Given the description of an element on the screen output the (x, y) to click on. 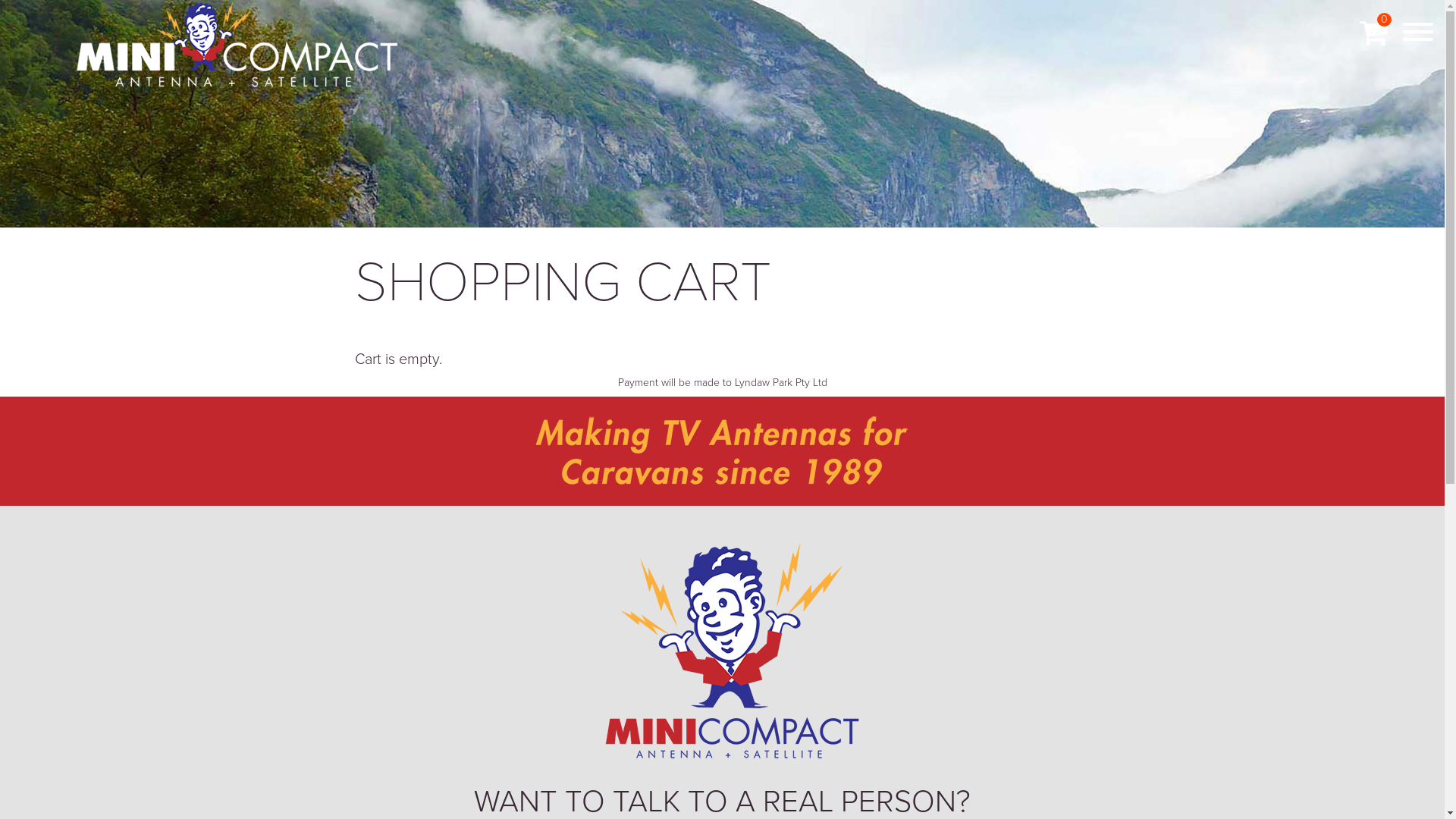
0 Element type: text (1373, 33)
